Given the description of an element on the screen output the (x, y) to click on. 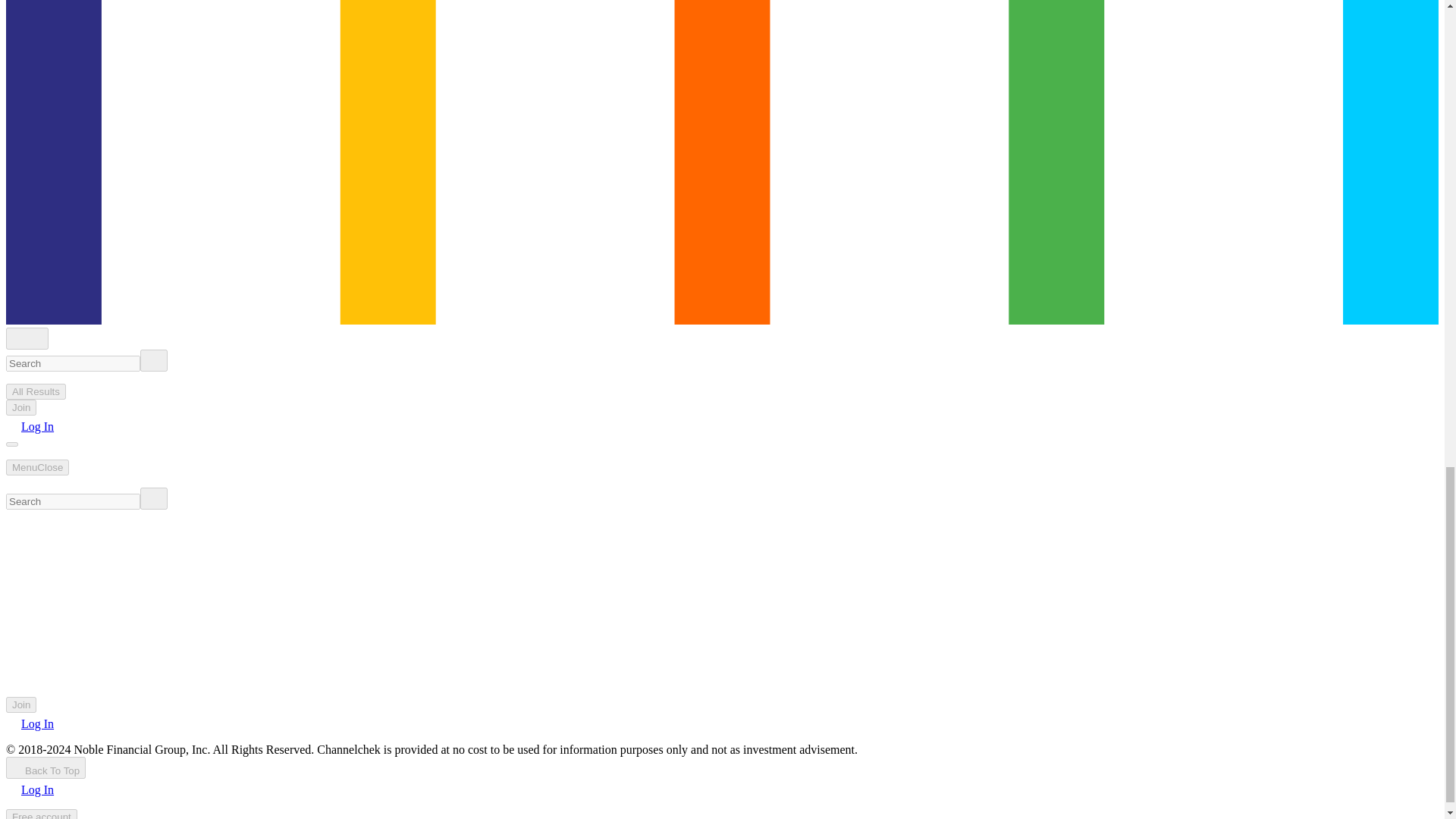
All Results (35, 391)
Join (20, 407)
MenuClose (36, 467)
Log In (29, 426)
Join (20, 704)
Log In (29, 789)
Log In (29, 723)
Back To Top (45, 767)
Back To Top (45, 767)
